Given the description of an element on the screen output the (x, y) to click on. 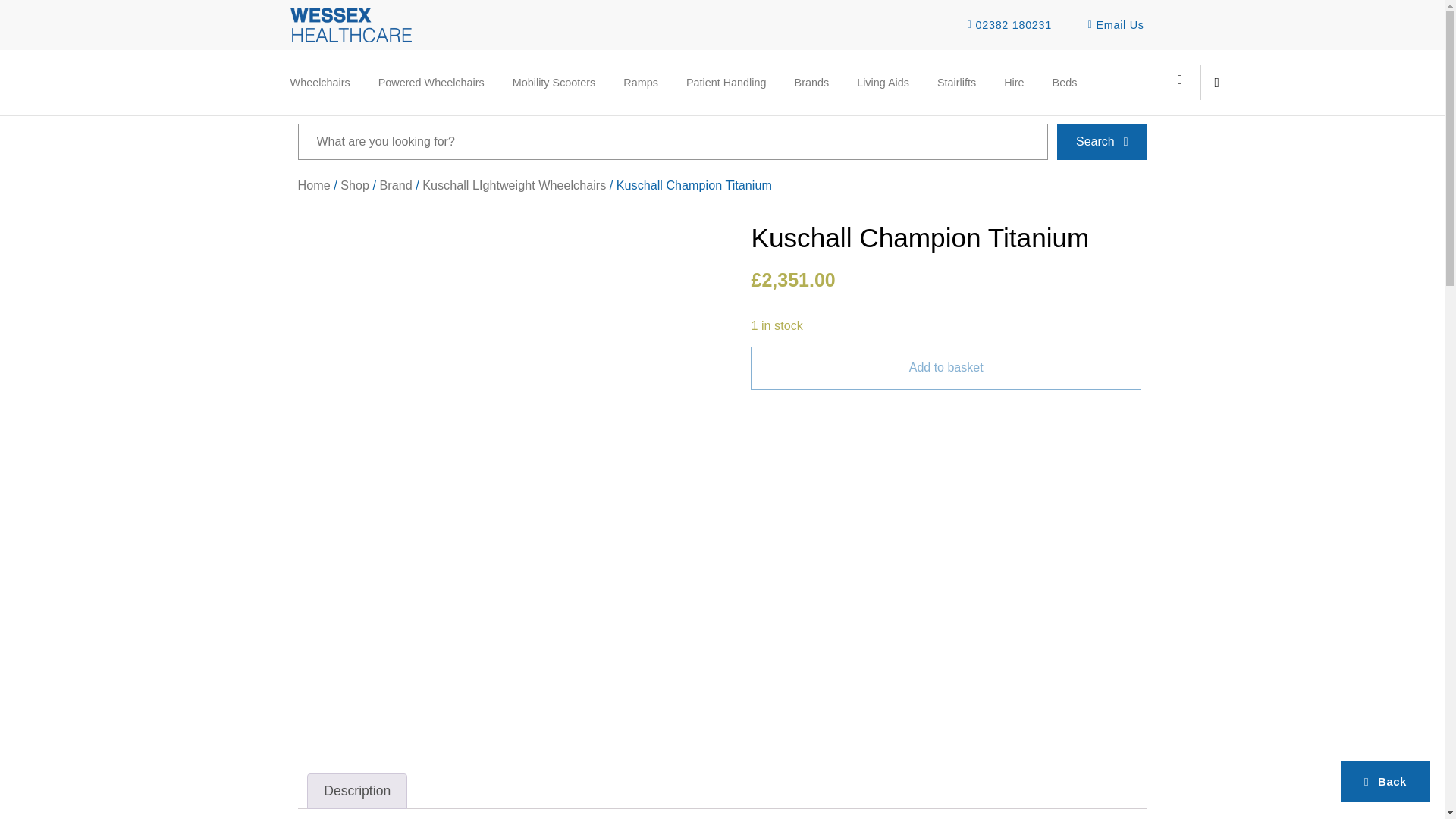
02382 180231 (1004, 25)
Search (671, 141)
Powered Wheelchairs (431, 82)
Email Us (1111, 25)
Patient Handling (726, 82)
Wheelchairs (319, 82)
Mobility Scooters (553, 82)
